Given the description of an element on the screen output the (x, y) to click on. 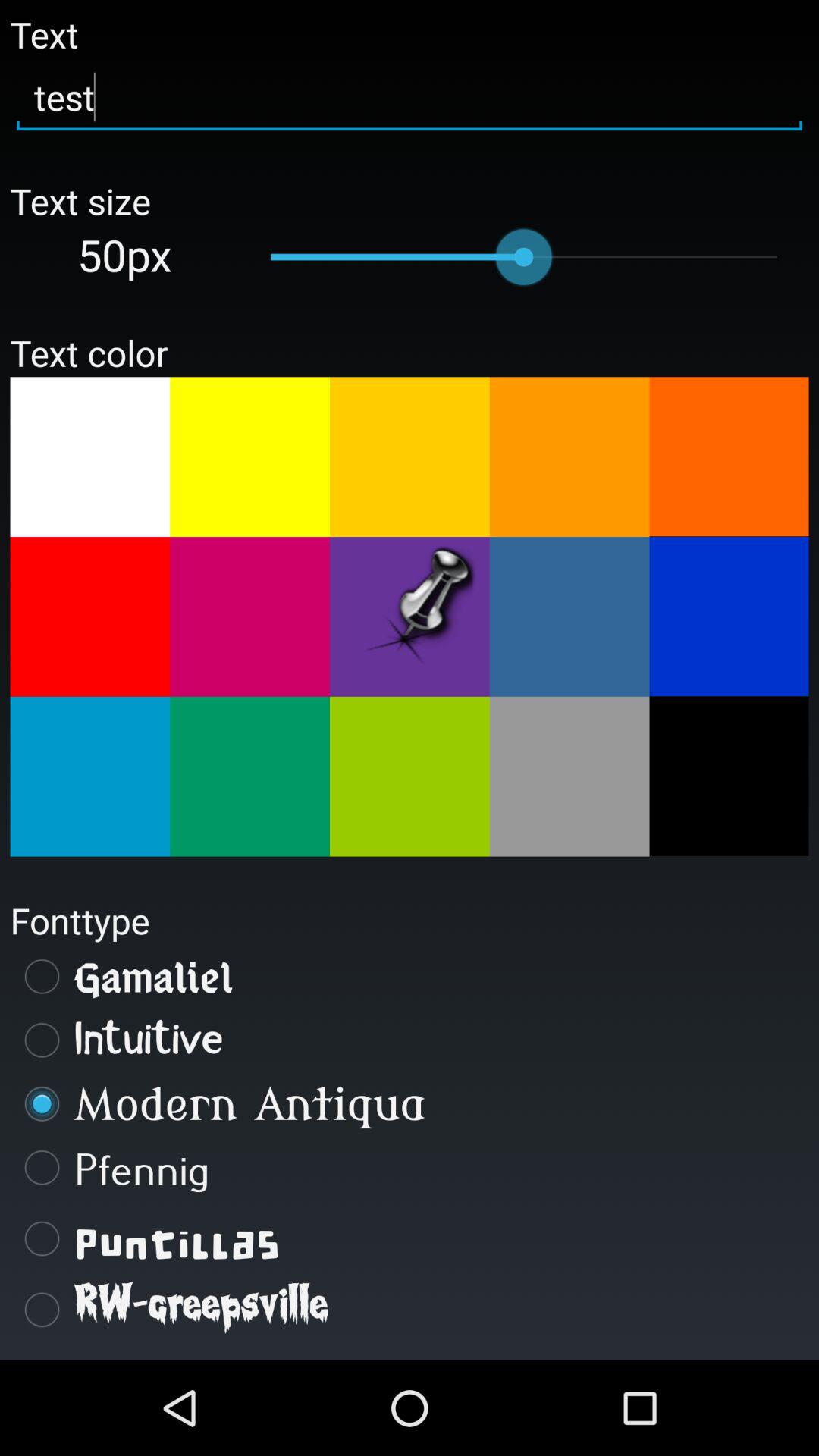
a choice for a text color (90, 456)
